Given the description of an element on the screen output the (x, y) to click on. 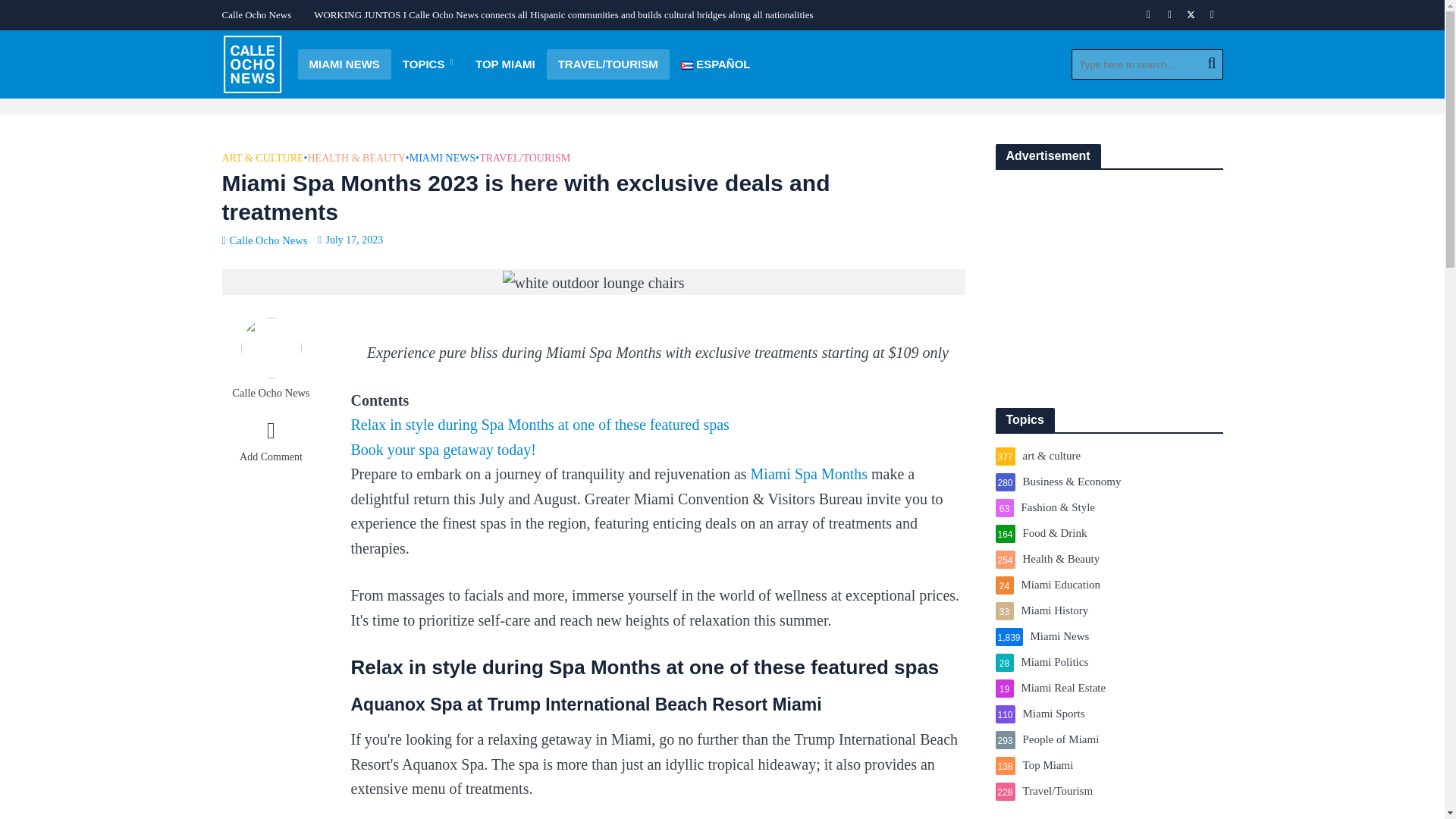
TOPICS (427, 64)
Calle Ocho News (259, 15)
Twitter (1190, 14)
TOP MIAMI (505, 64)
Youtube (1212, 14)
Instagram (1168, 14)
MIAMI NEWS (343, 64)
Facebook (1147, 14)
